Given the description of an element on the screen output the (x, y) to click on. 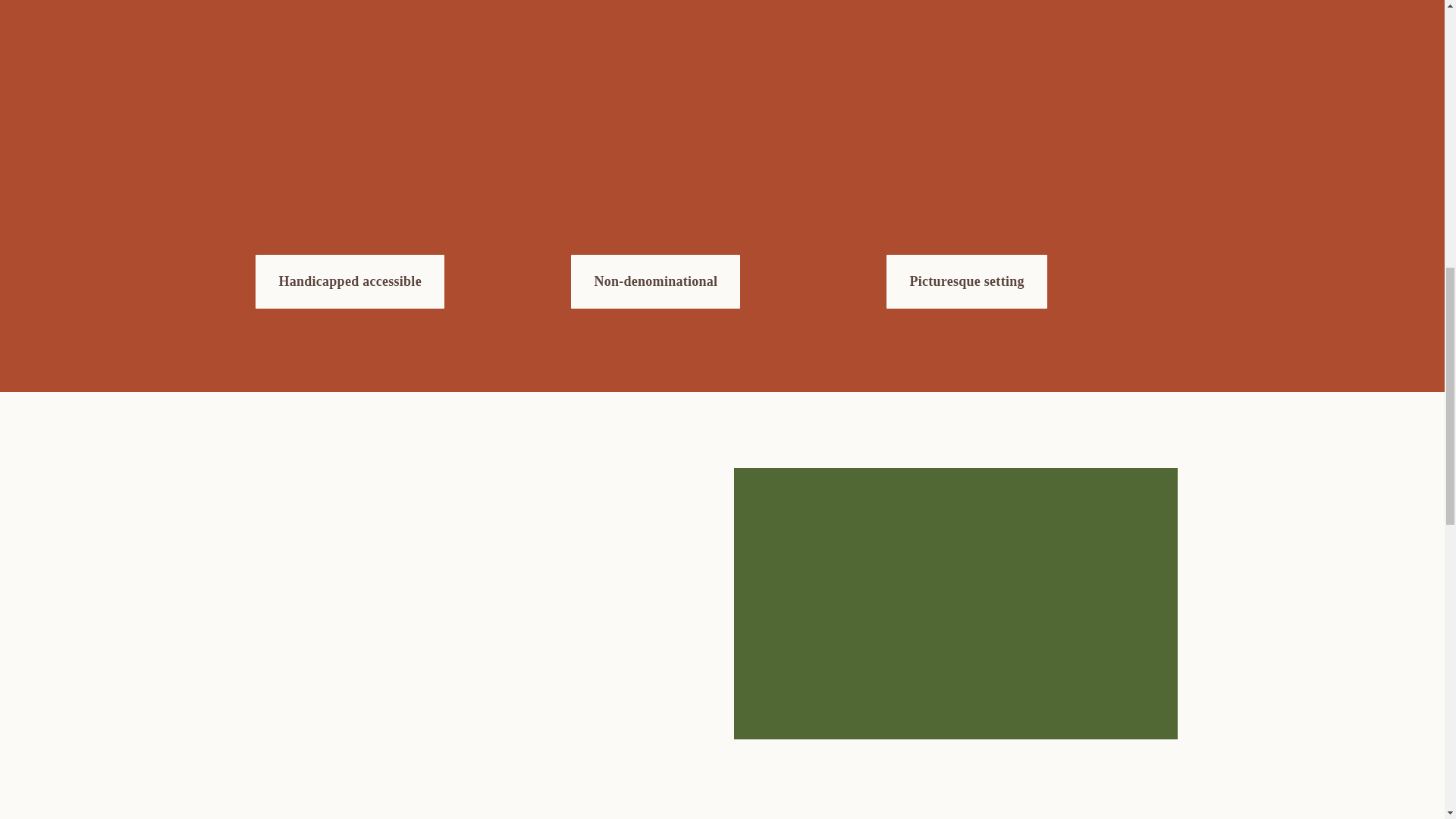
Anthony-and-Michael (721, 160)
chapel (406, 160)
bridge-in-spring (1037, 160)
